Given the description of an element on the screen output the (x, y) to click on. 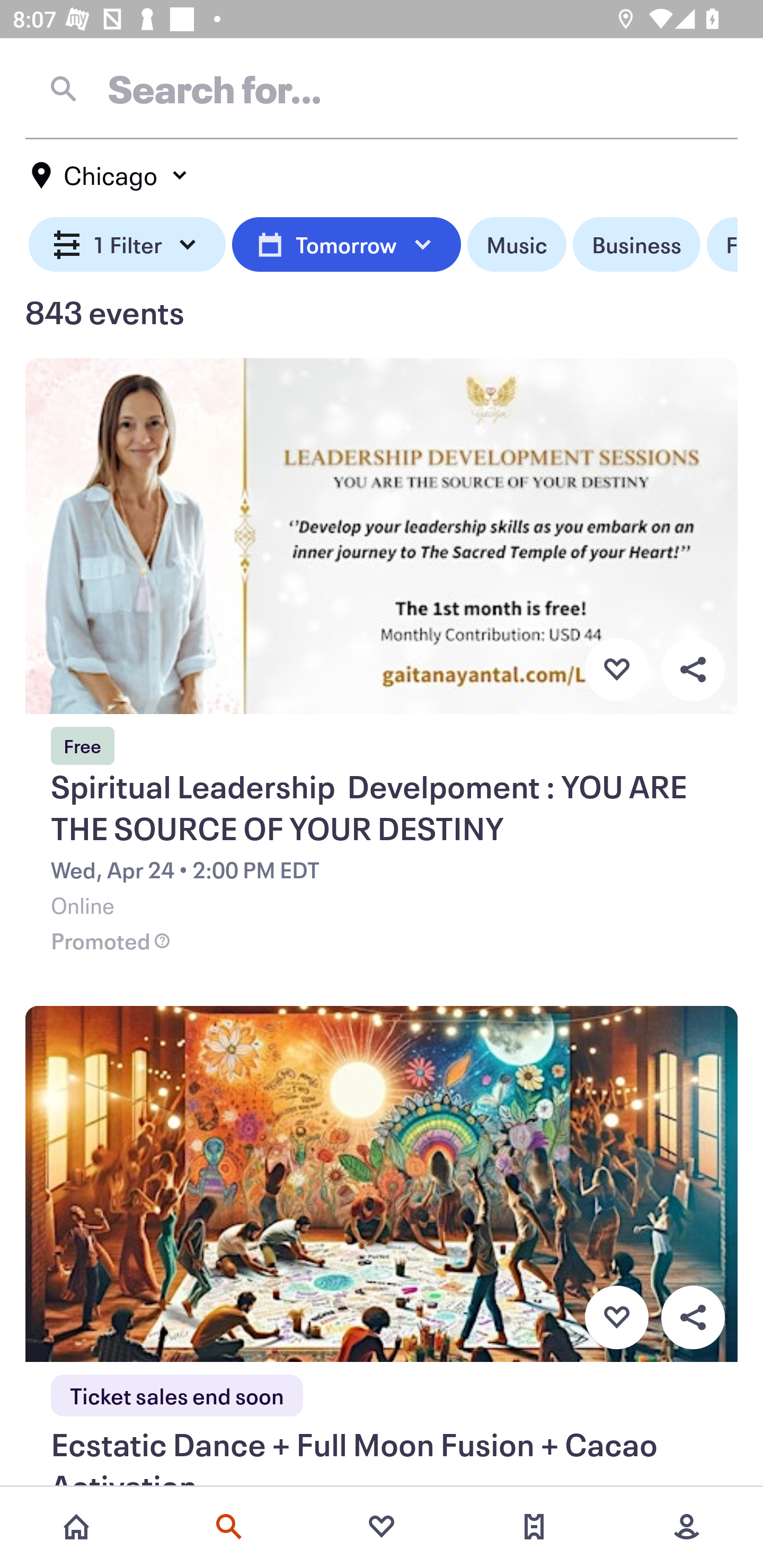
Search for… (381, 88)
Chicago (110, 175)
1 Filter (126, 244)
Tomorrow (345, 244)
Music (516, 244)
Business (636, 244)
Favorite button (616, 669)
Overflow menu button (692, 669)
Favorite button (616, 1317)
Overflow menu button (692, 1317)
Home (76, 1526)
Search events (228, 1526)
Favorites (381, 1526)
Tickets (533, 1526)
More (686, 1526)
